Given the description of an element on the screen output the (x, y) to click on. 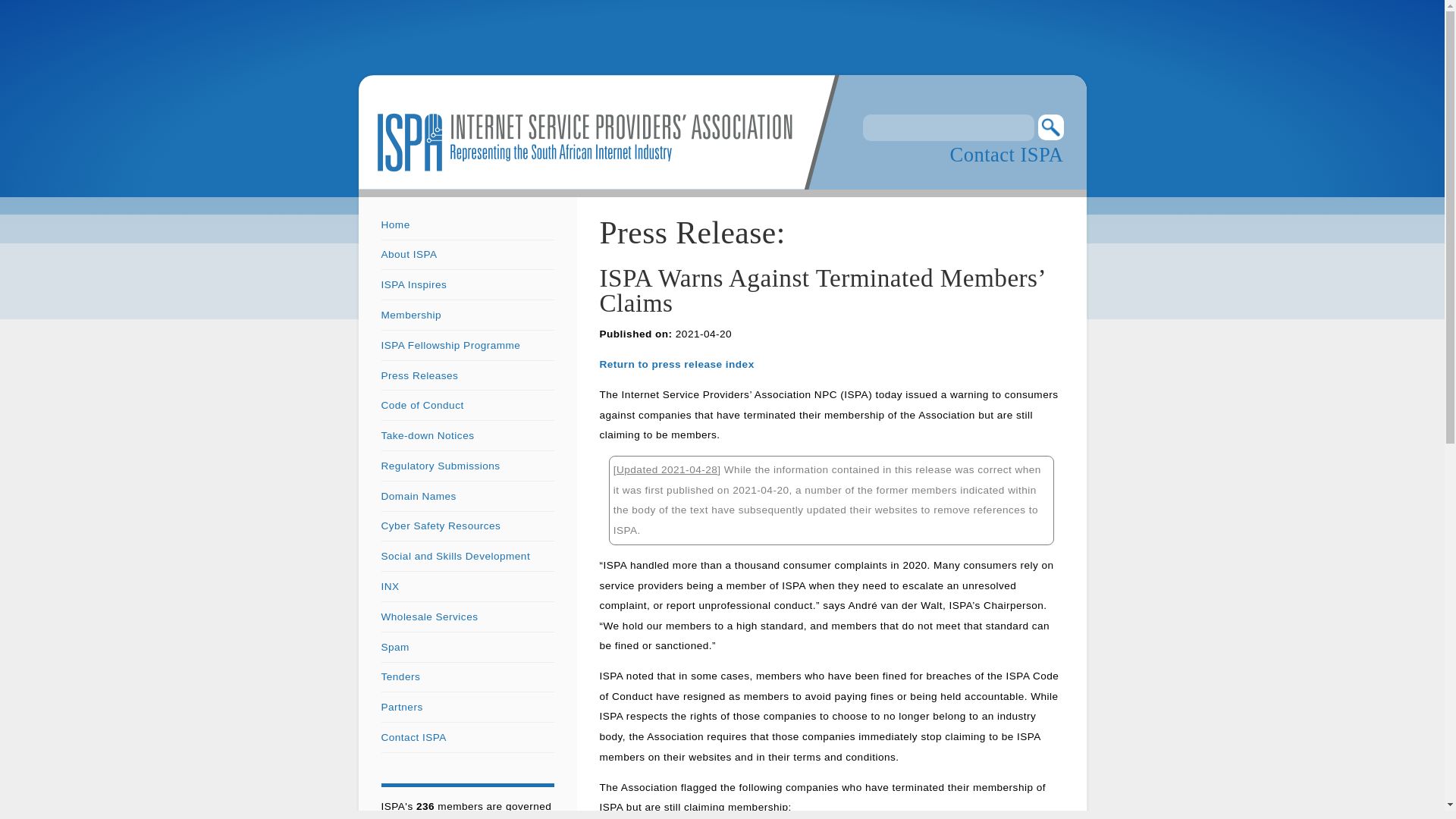
About ISPA (408, 254)
Press Releases (419, 375)
Domain Names (417, 496)
Take-down Notices (427, 435)
ISPA Inspires (413, 284)
Regulatory Submissions (439, 465)
Membership (410, 315)
Code of Conduct (421, 405)
Social and Skills Development (454, 555)
Home (394, 224)
